Given the description of an element on the screen output the (x, y) to click on. 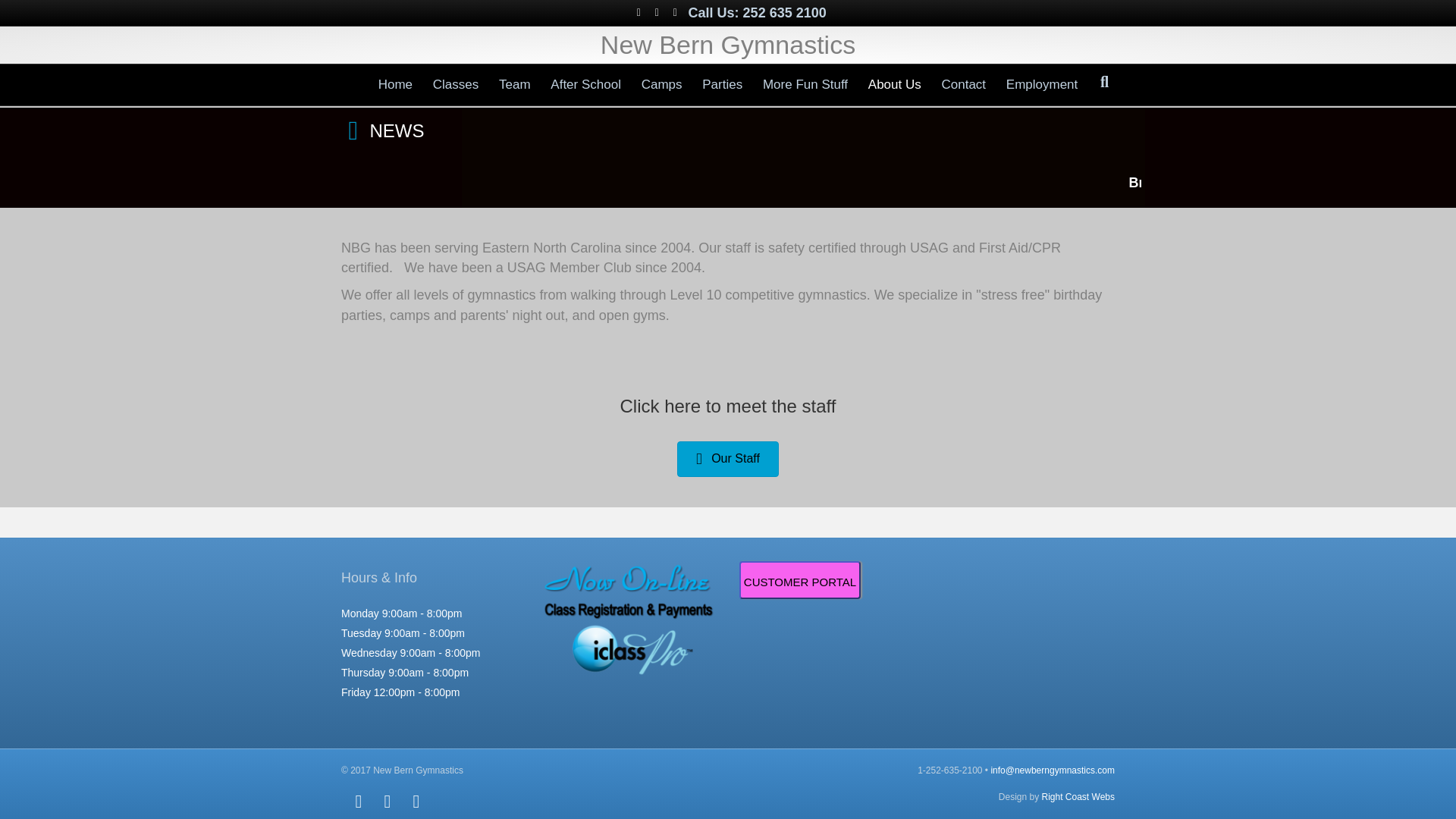
New Bern Gymnastics (727, 44)
After School (584, 84)
Camps (661, 84)
Twitter (656, 11)
Contact (963, 84)
Parties (722, 84)
More Fun Stuff (805, 84)
Team (514, 84)
Our Staff (727, 458)
Home (394, 84)
